Given the description of an element on the screen output the (x, y) to click on. 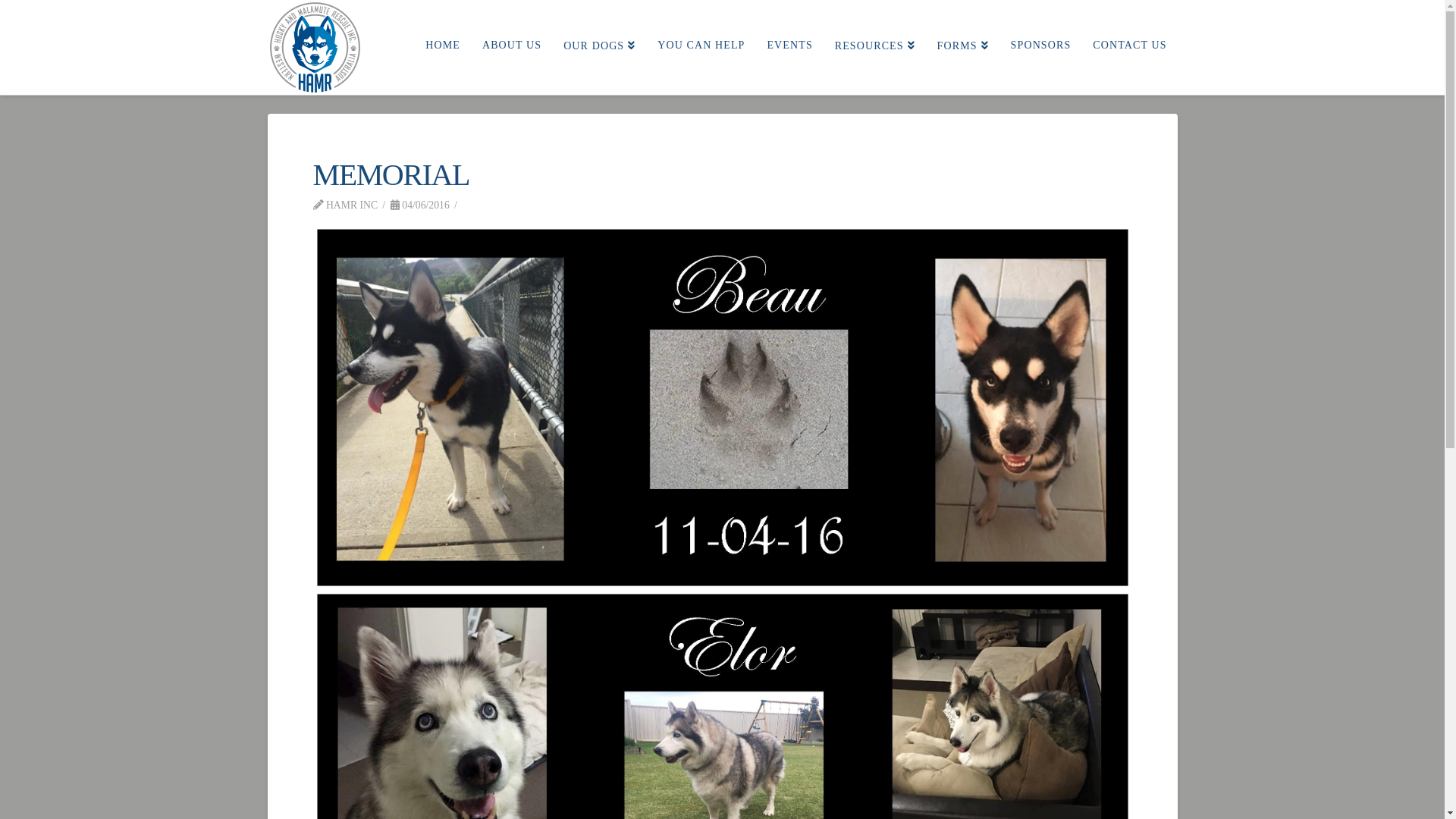
YOU CAN HELP Element type: text (700, 41)
RESOURCES Element type: text (874, 41)
SPONSORS Element type: text (1040, 41)
ABOUT US Element type: text (511, 41)
EVENTS Element type: text (788, 41)
CONTACT US Element type: text (1128, 41)
beau-memorial Element type: hover (722, 407)
OUR DOGS Element type: text (599, 41)
HOME Element type: text (442, 41)
FORMS Element type: text (962, 41)
